Given the description of an element on the screen output the (x, y) to click on. 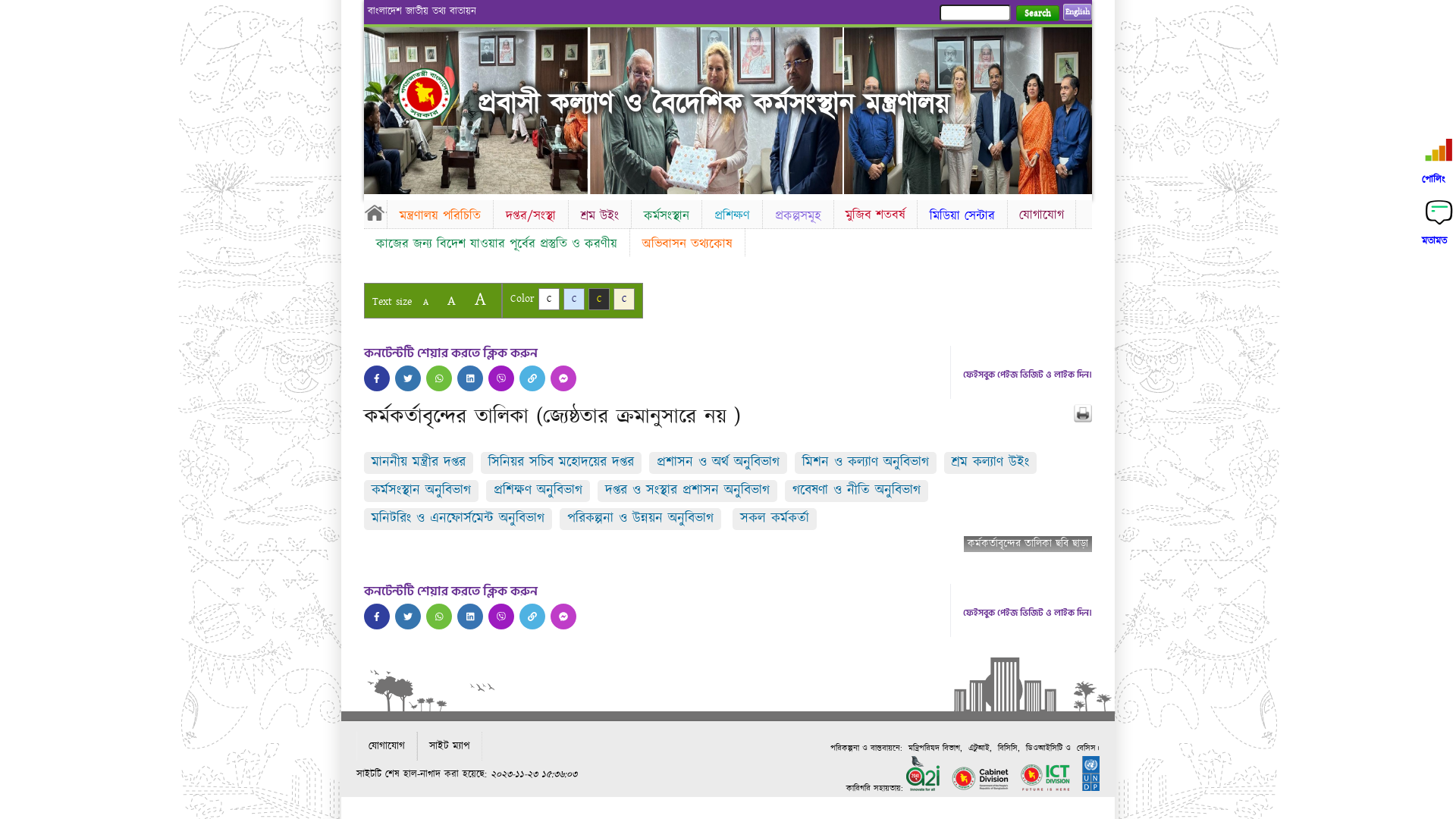
English Element type: text (1077, 11)
A Element type: text (425, 301)
C Element type: text (573, 299)
A Element type: text (480, 298)
A Element type: text (451, 300)
Search Element type: text (1037, 13)
C Element type: text (548, 299)
C Element type: text (623, 299)
Home Element type: hover (375, 211)
Home Element type: hover (437, 93)
C Element type: text (598, 299)
